Given the description of an element on the screen output the (x, y) to click on. 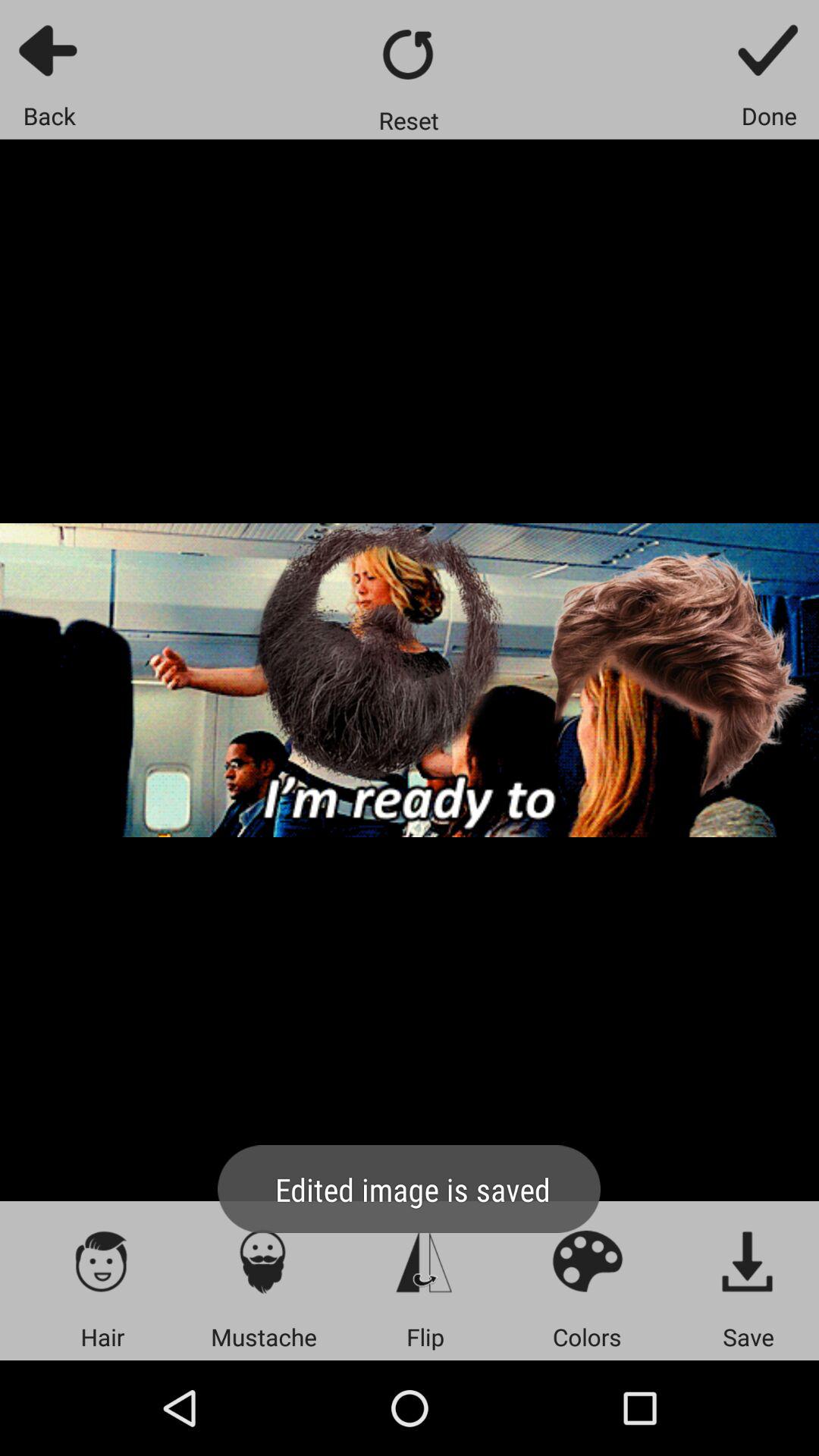
select the colors (586, 1260)
